Given the description of an element on the screen output the (x, y) to click on. 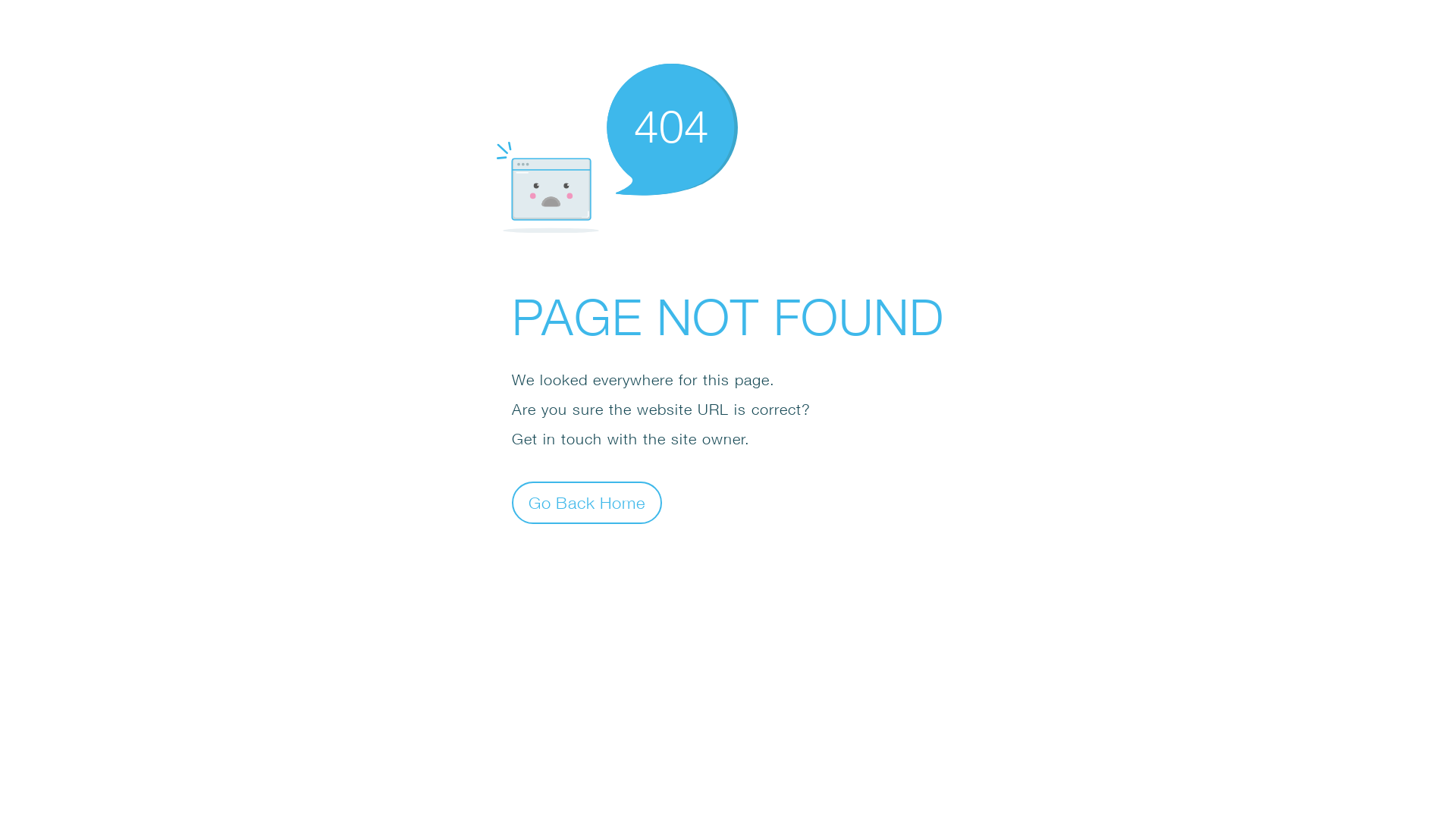
Go Back Home Element type: text (586, 502)
